Given the description of an element on the screen output the (x, y) to click on. 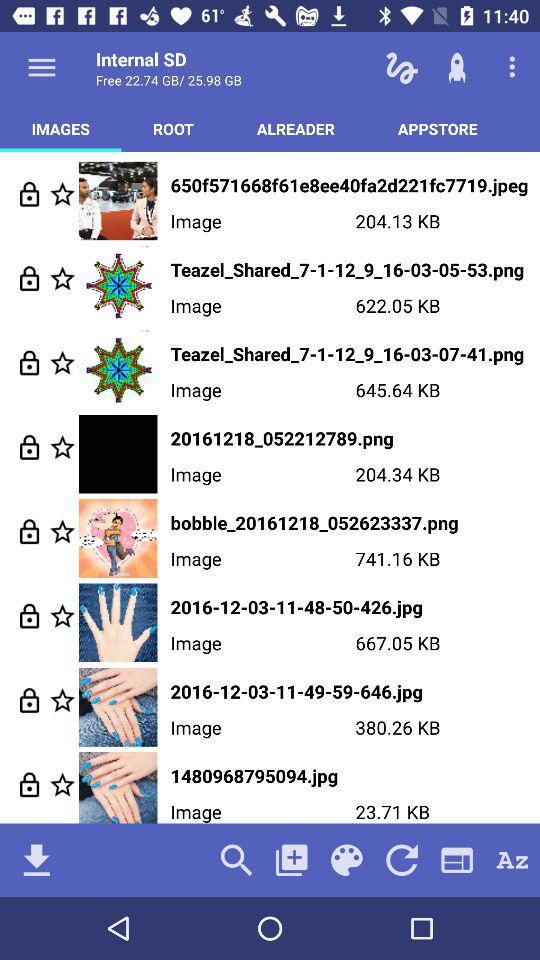
donload the app (36, 860)
